Given the description of an element on the screen output the (x, y) to click on. 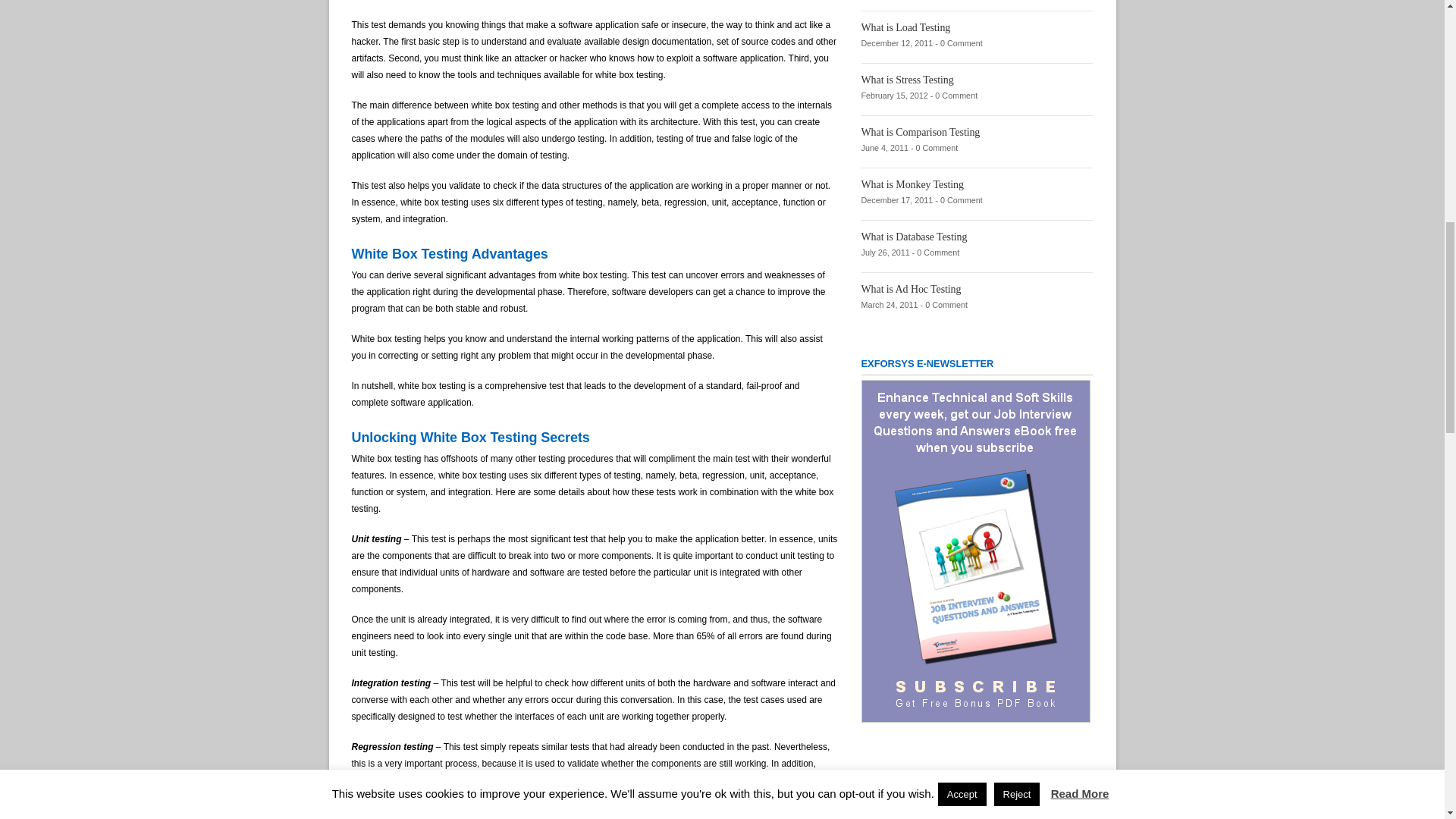
What is Monkey Testing (912, 184)
What is Stress Testing (907, 79)
What is Database Testing (914, 236)
What is Comparison Testing (920, 132)
What is Load Testing (905, 27)
